Given the description of an element on the screen output the (x, y) to click on. 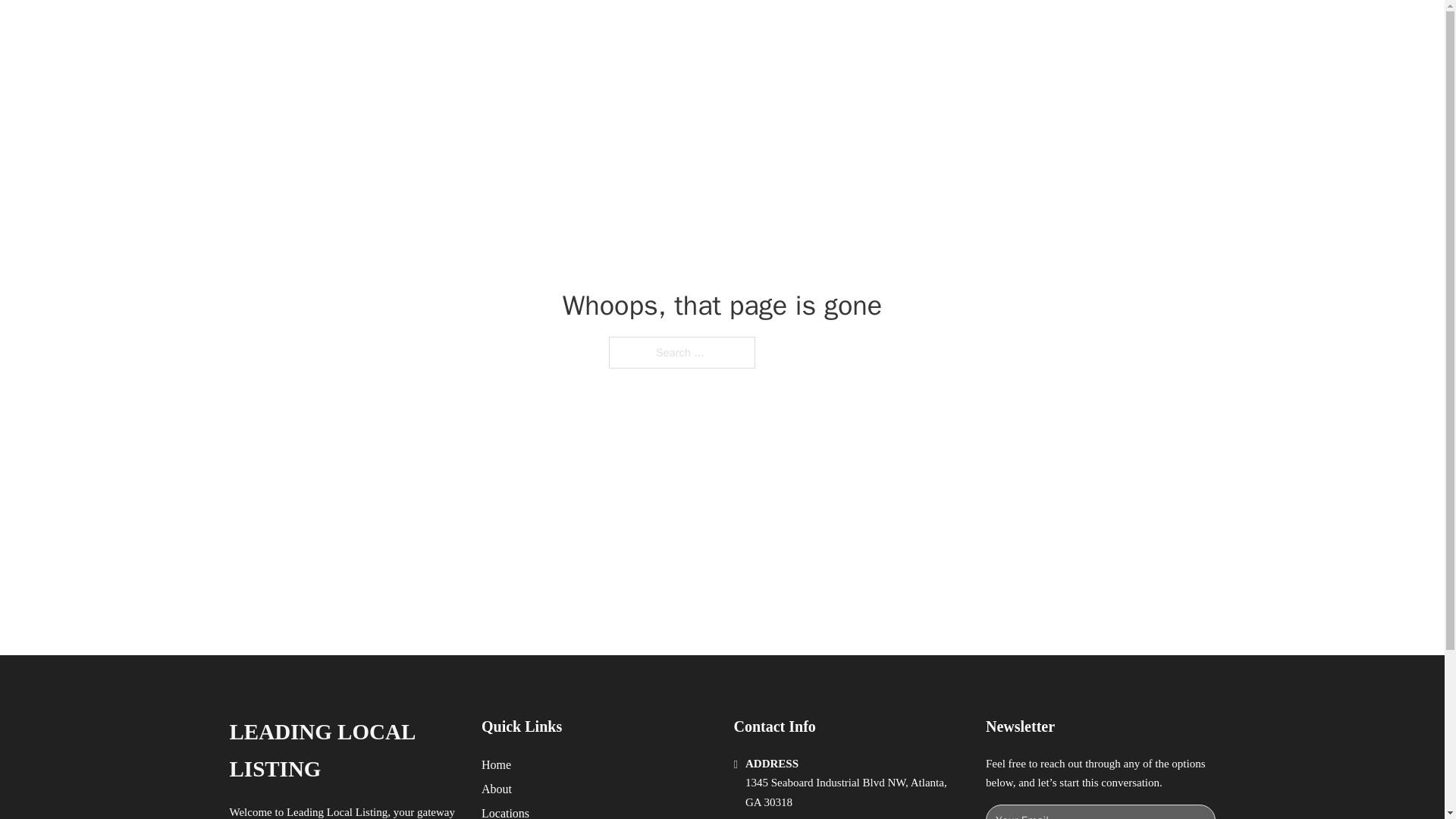
LEADING LOCAL LISTING (430, 28)
About (496, 788)
Home (496, 764)
Locations (505, 811)
LEADING LOCAL LISTING (343, 750)
